Given the description of an element on the screen output the (x, y) to click on. 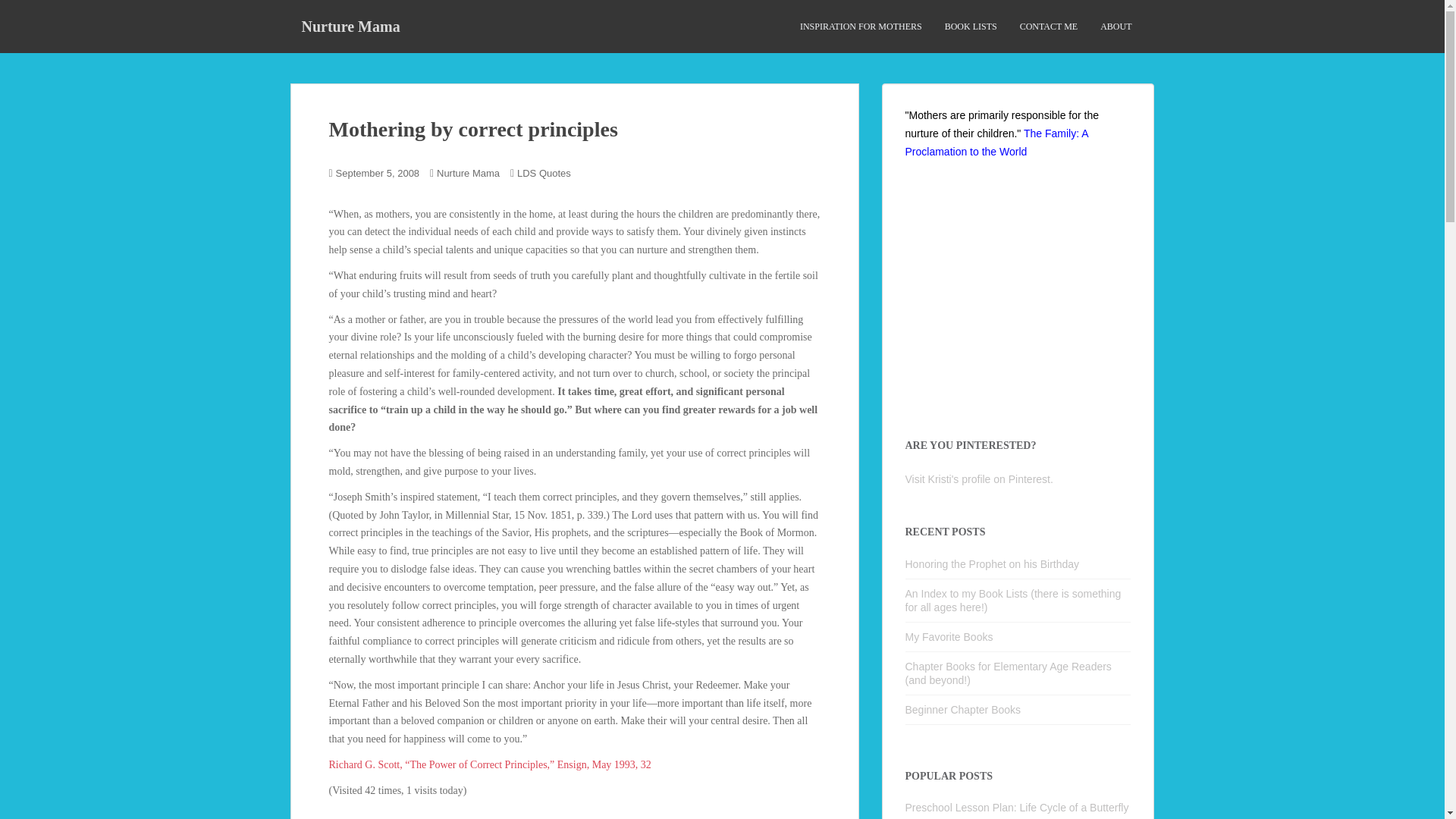
September 5, 2008 (378, 173)
ABOUT (1115, 26)
INSPIRATION FOR MOTHERS (860, 26)
Nurture Mama (349, 26)
Visit Kristi's profile on Pinterest. (978, 479)
Preschool Lesson Plan: Life Cycle of a Butterfly (1017, 807)
The Family: A Proclamation to the World (996, 142)
Advertisement (1021, 297)
Honoring the Prophet on his Birthday (992, 563)
BOOK LISTS (970, 26)
My Favorite Books (948, 636)
CONTACT ME (1049, 26)
Nurture Mama (467, 173)
Beginner Chapter Books (963, 709)
Nurture Mama (349, 26)
